Given the description of an element on the screen output the (x, y) to click on. 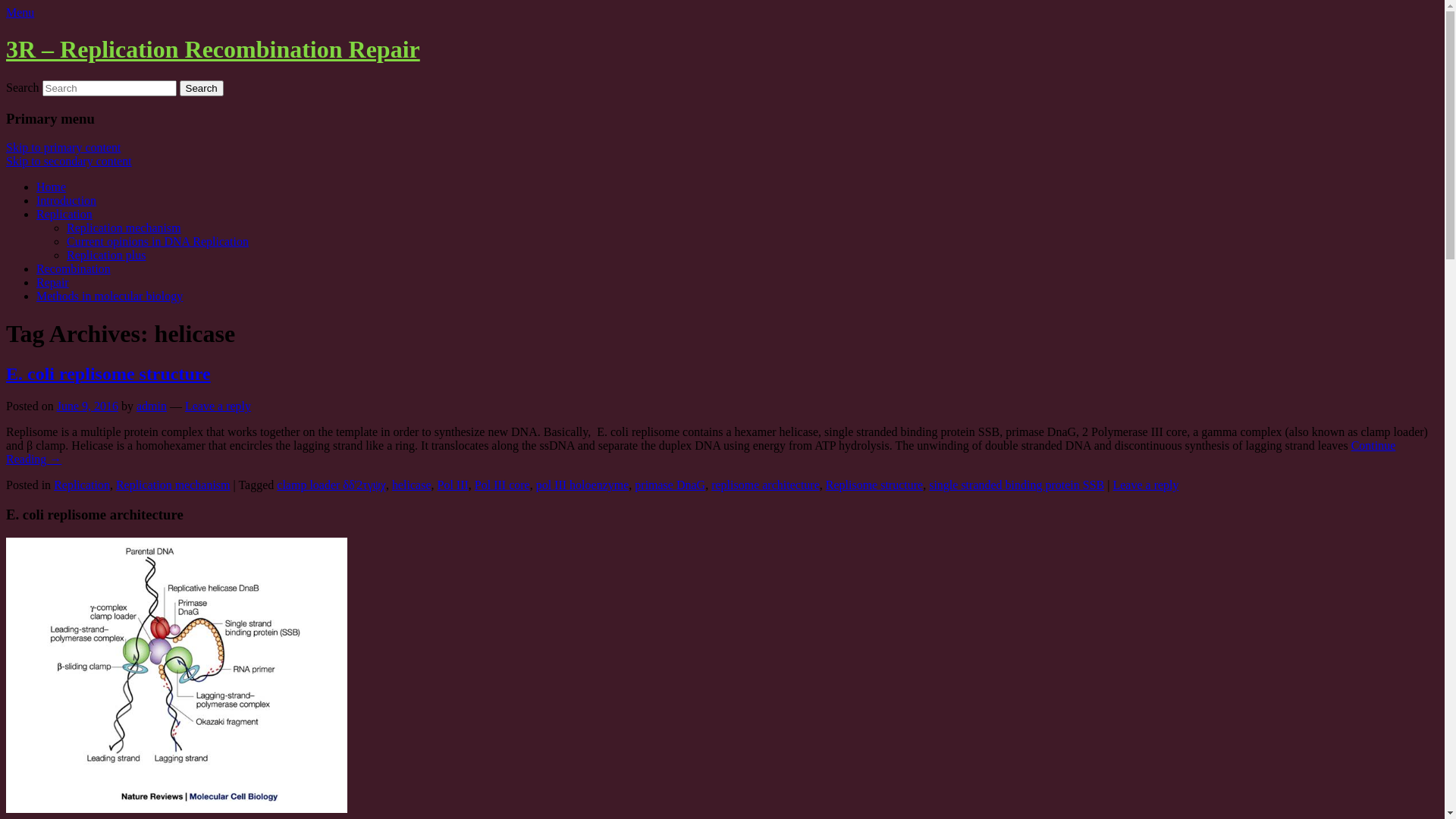
June 9, 2016 Element type: text (87, 405)
Replication Element type: text (64, 213)
Search Element type: text (201, 88)
Replication mechanism Element type: text (173, 484)
E. coli replisome structure Element type: text (108, 373)
single stranded binding protein SSB Element type: text (1016, 484)
Skip to primary content Element type: text (63, 147)
primase DnaG Element type: text (669, 484)
Home Element type: text (50, 186)
helicase Element type: text (411, 484)
pol III holoenzyme Element type: text (582, 484)
admin Element type: text (151, 405)
Leave a reply Element type: text (218, 405)
Pol III Element type: text (451, 484)
Replication plus Element type: text (105, 254)
Introduction Element type: text (66, 200)
Replication mechanism Element type: text (123, 227)
replisome architecture Element type: text (765, 484)
Repair Element type: text (52, 282)
Replisome structure Element type: text (873, 484)
Menu Element type: text (20, 12)
Methods in molecular biology Element type: text (109, 295)
Leave a reply Element type: text (1145, 484)
Skip to secondary content Element type: text (68, 160)
Replication Element type: text (81, 484)
Pol III core Element type: text (502, 484)
Current opinions in DNA Replication Element type: text (157, 241)
Recombination Element type: text (73, 268)
